Given the description of an element on the screen output the (x, y) to click on. 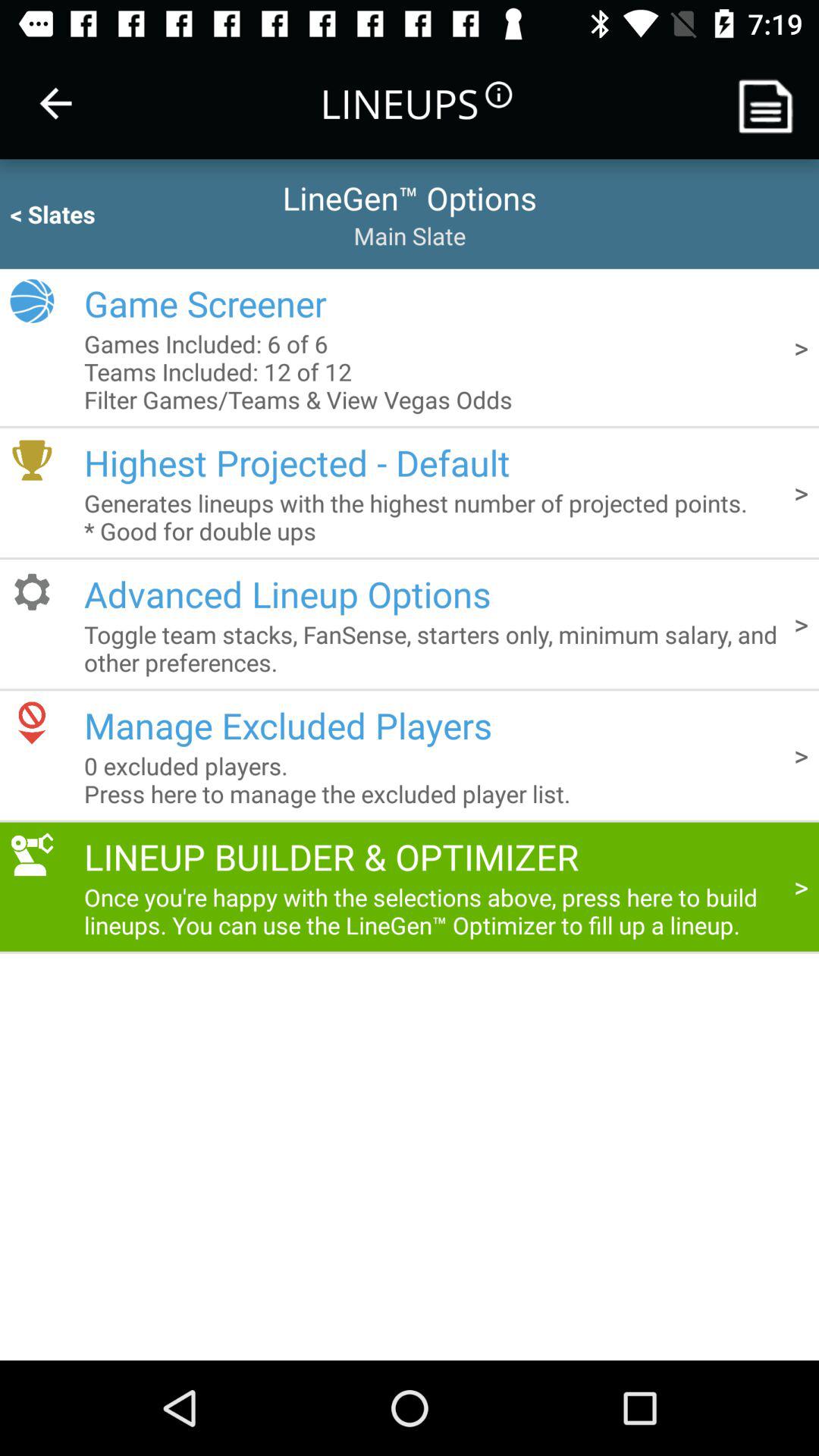
open the < slates item (81, 214)
